Given the description of an element on the screen output the (x, y) to click on. 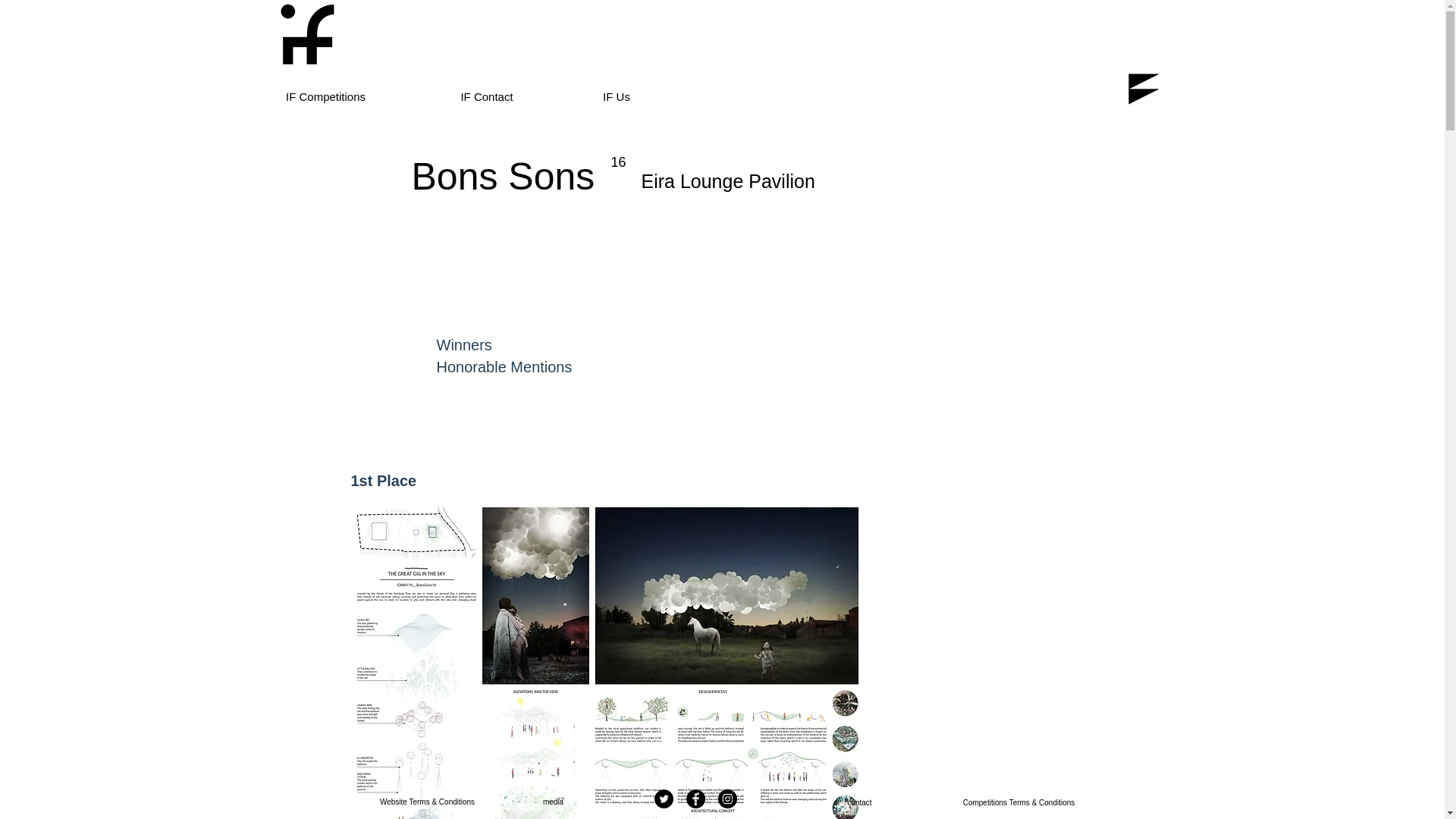
media (552, 801)
IF Us (615, 96)
IF Competitions (325, 96)
contact (859, 802)
Winners (464, 344)
Honorable Mentions (504, 366)
IF Contact (486, 96)
